Given the description of an element on the screen output the (x, y) to click on. 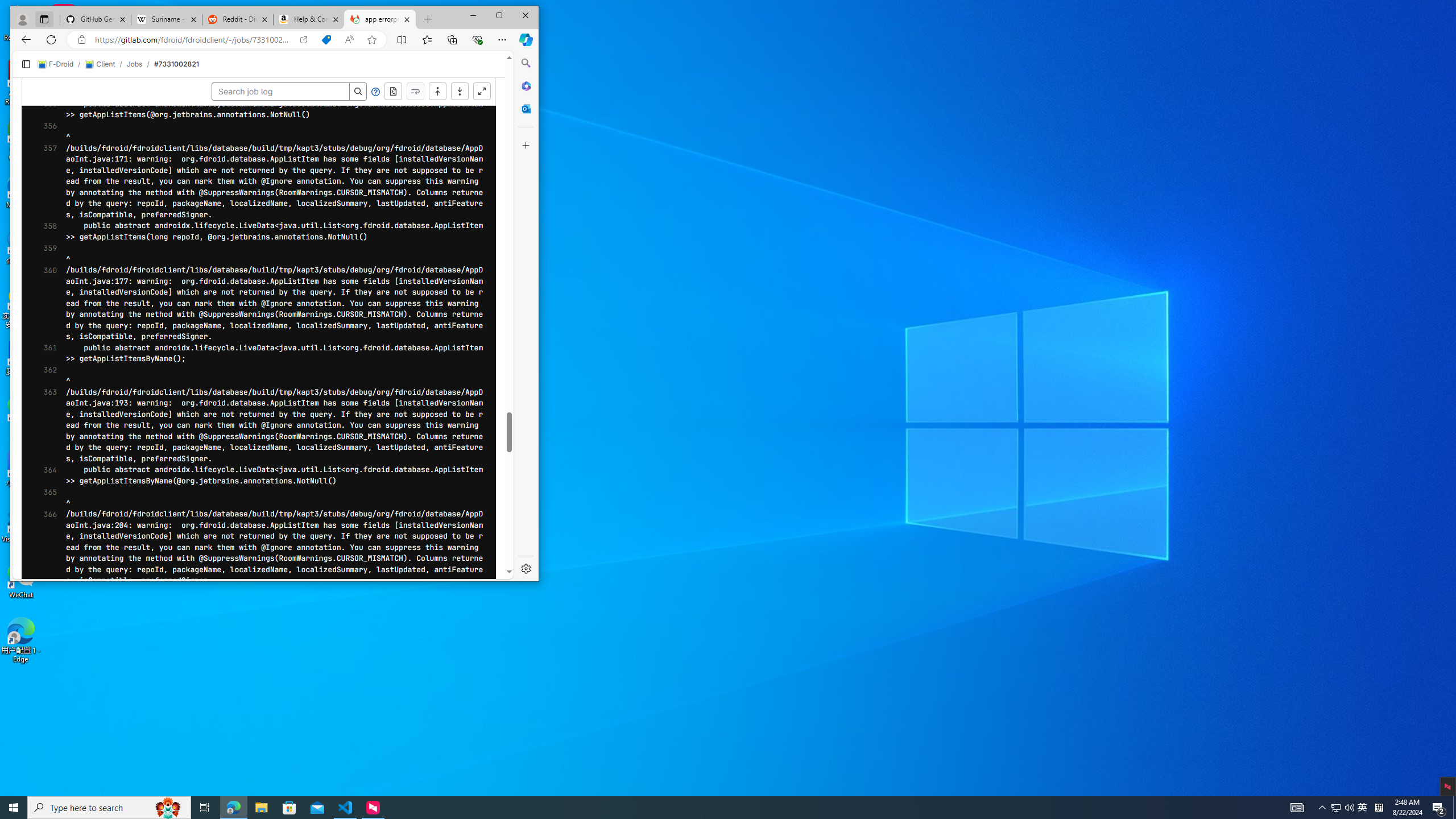
366 (47, 547)
#7331002821 (175, 63)
Suriname - Wikipedia (166, 19)
User Promoted Notification Area (1342, 807)
Client (99, 63)
